Given the description of an element on the screen output the (x, y) to click on. 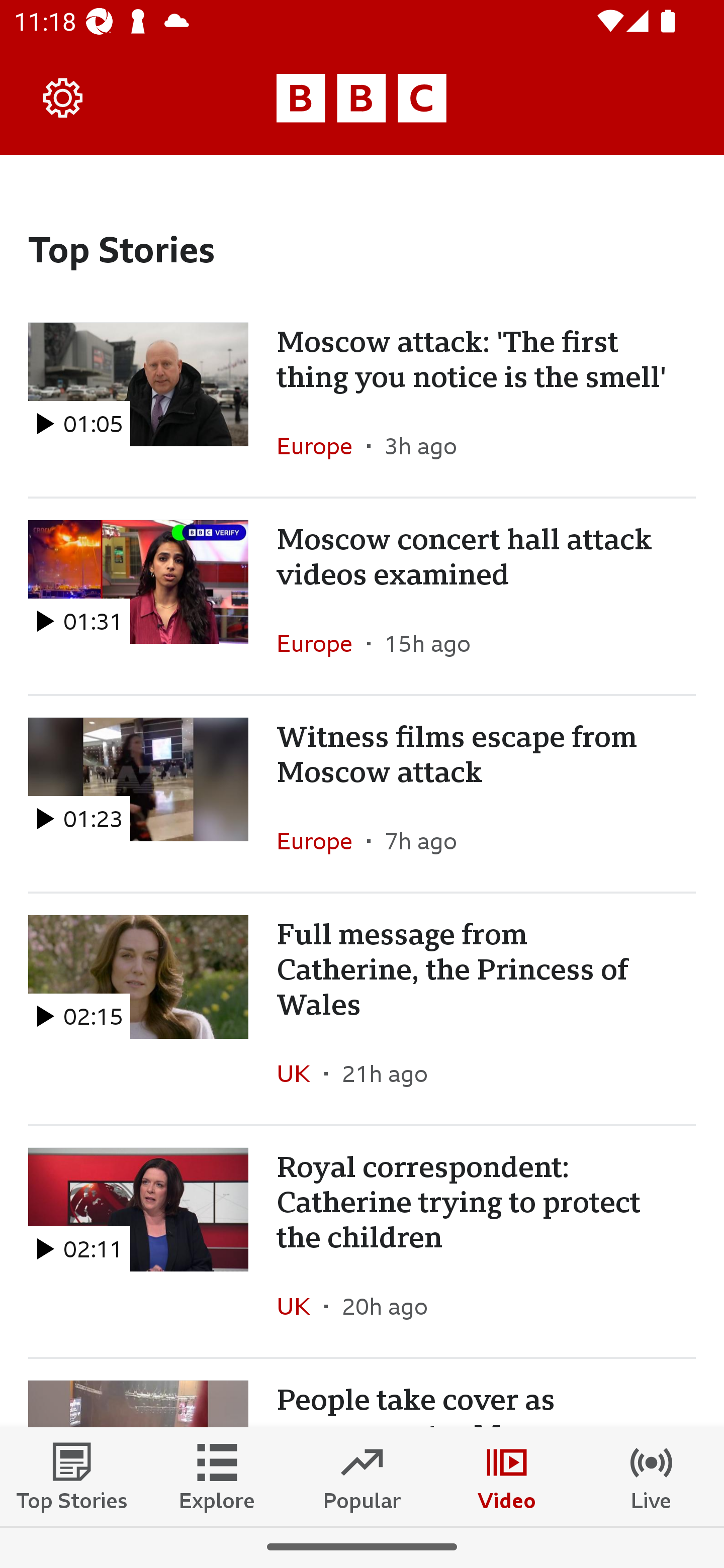
Settings (63, 97)
Europe In the section Europe (321, 446)
Europe In the section Europe (321, 643)
Europe In the section Europe (321, 841)
UK In the section UK (300, 1073)
UK In the section UK (300, 1305)
Top Stories (72, 1475)
Explore (216, 1475)
Popular (361, 1475)
Live (651, 1475)
